Given the description of an element on the screen output the (x, y) to click on. 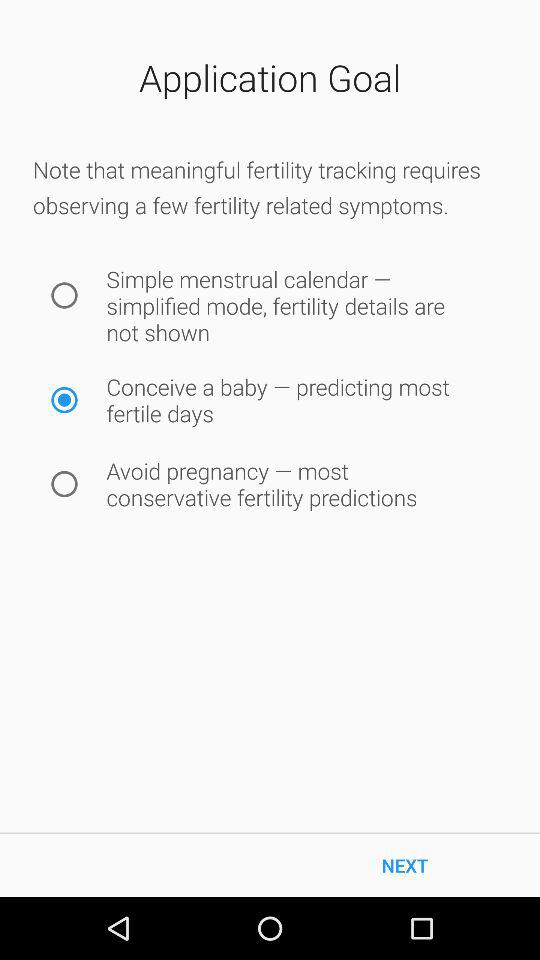
click the item below the note that meaningful item (64, 295)
